Given the description of an element on the screen output the (x, y) to click on. 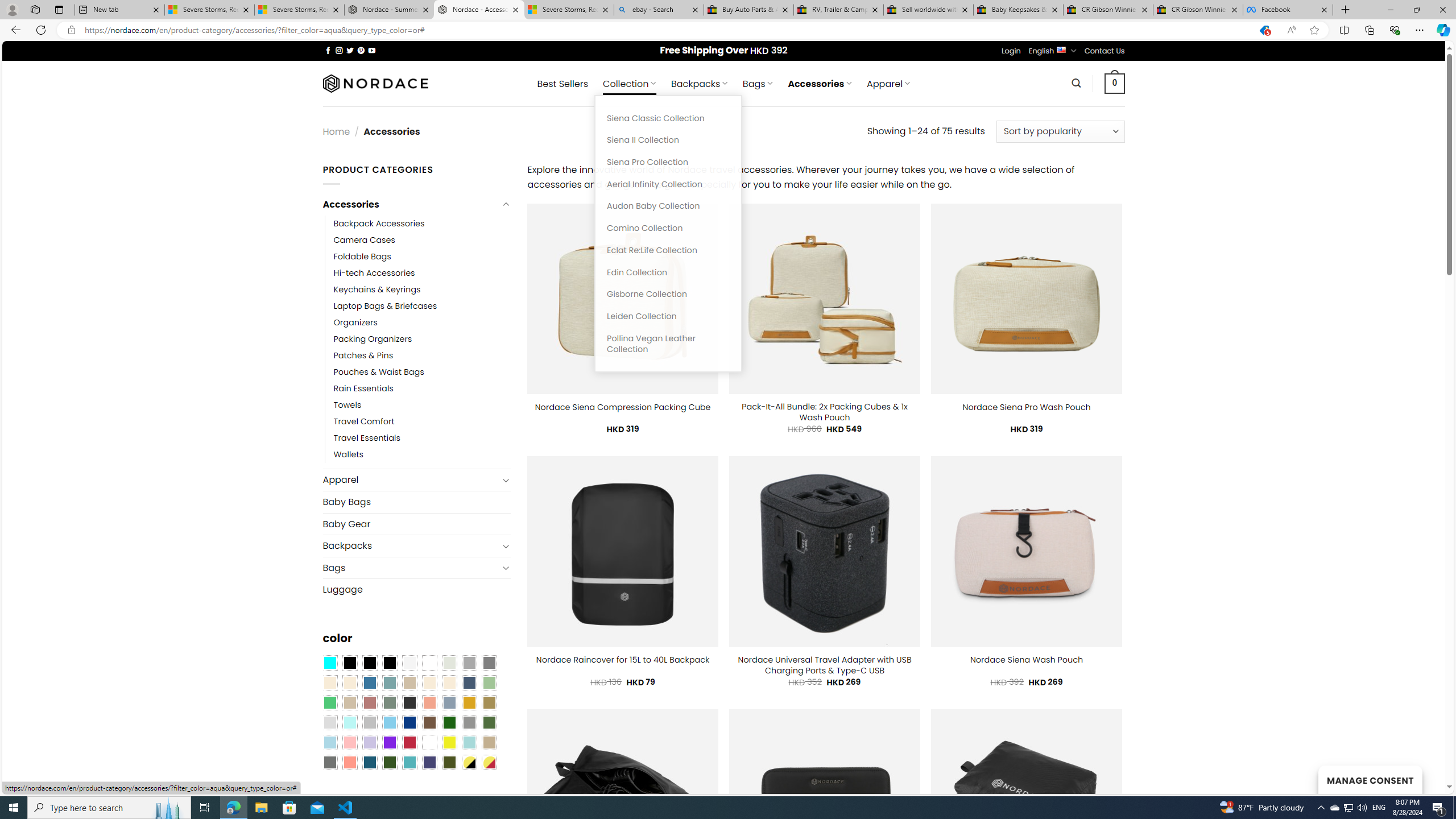
Nordace Raincover for 15L to 40L Backpack (622, 659)
Organizers (355, 321)
Clear (429, 662)
Pearly White (408, 662)
Capri Blue (369, 762)
Patches & Pins (363, 355)
This site has coupons! Shopping in Microsoft Edge, 5 (1263, 29)
Backpack Accessories (379, 222)
Yellow-Black (468, 762)
Travel Comfort (422, 421)
